Given the description of an element on the screen output the (x, y) to click on. 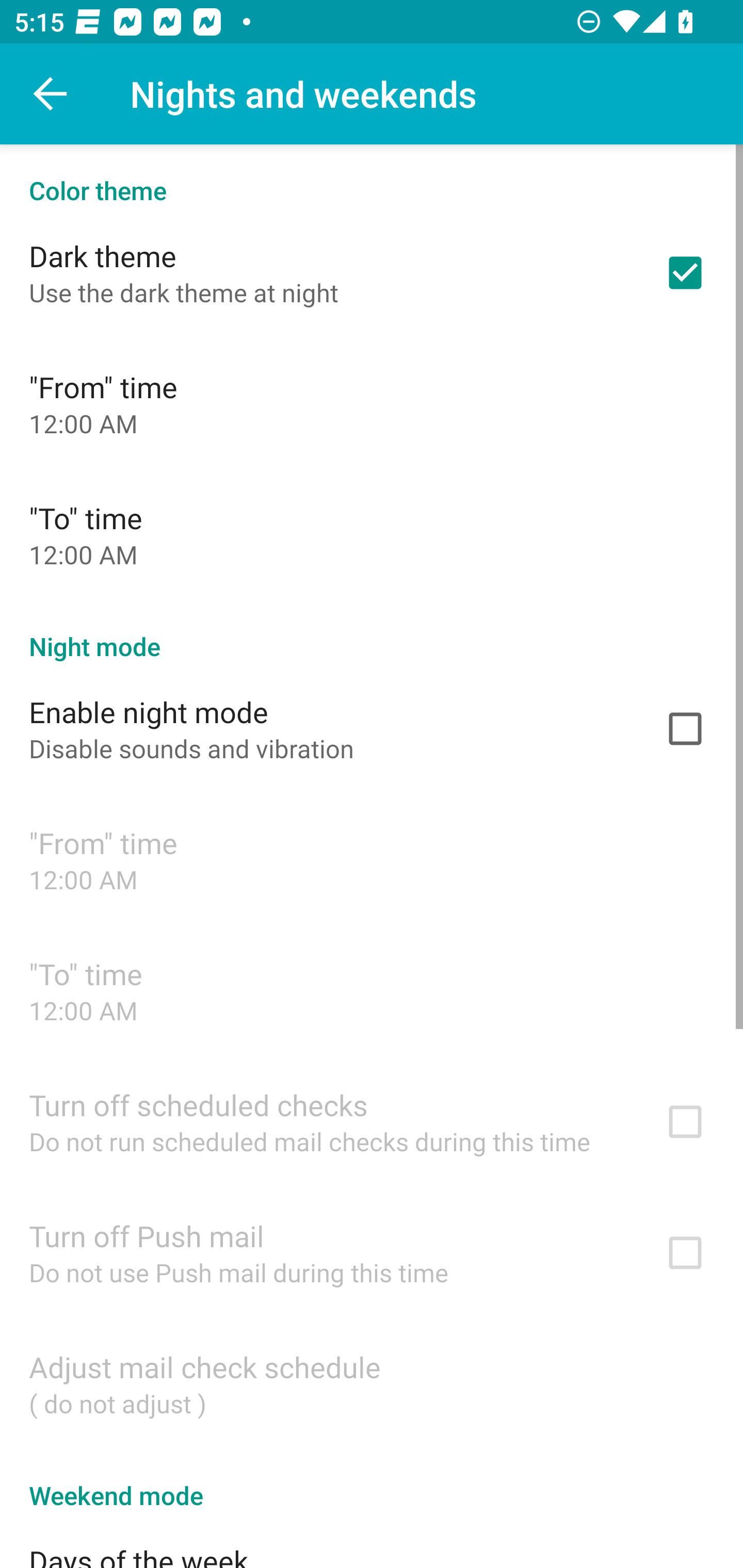
Navigate up (50, 93)
Dark theme Use the dark theme at night (371, 272)
"From" time 12:00 AM (371, 403)
"To" time 12:00 AM (371, 534)
Enable night mode Disable sounds and vibration (371, 728)
"From" time 12:00 AM (371, 859)
"To" time 12:00 AM (371, 990)
Adjust mail check schedule ( do not adjust ) (371, 1383)
